Given the description of an element on the screen output the (x, y) to click on. 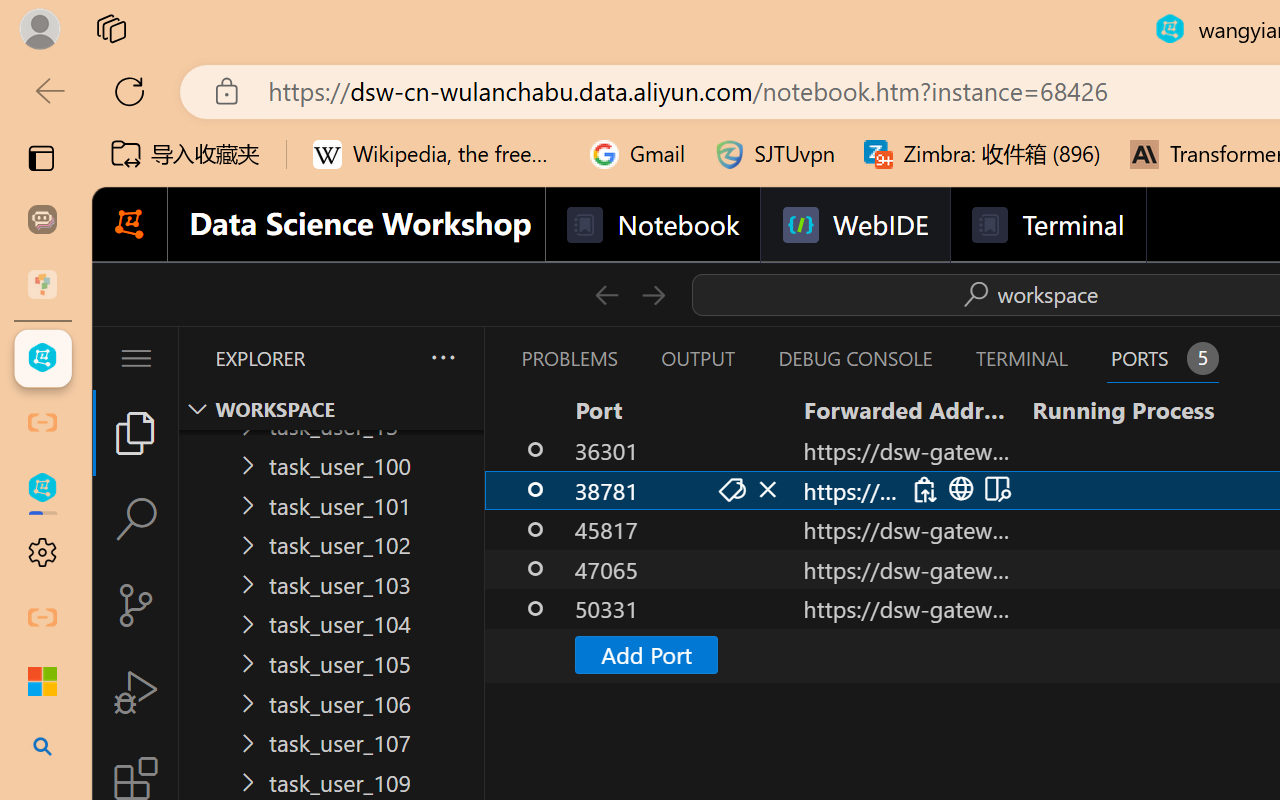
Application Menu (135, 358)
Ports - 5 forwarded ports Ports - 5 forwarded ports (1162, 358)
Class: actions-container (958, 489)
wangyian_dsw - DSW (42, 357)
Output (Ctrl+Shift+U) (696, 358)
Gmail (637, 154)
WebIDE (854, 225)
Wikipedia, the free encyclopedia (437, 154)
Explorer Section: workspace (331, 409)
Copy Local Address (Ctrl+C) (923, 489)
